Given the description of an element on the screen output the (x, y) to click on. 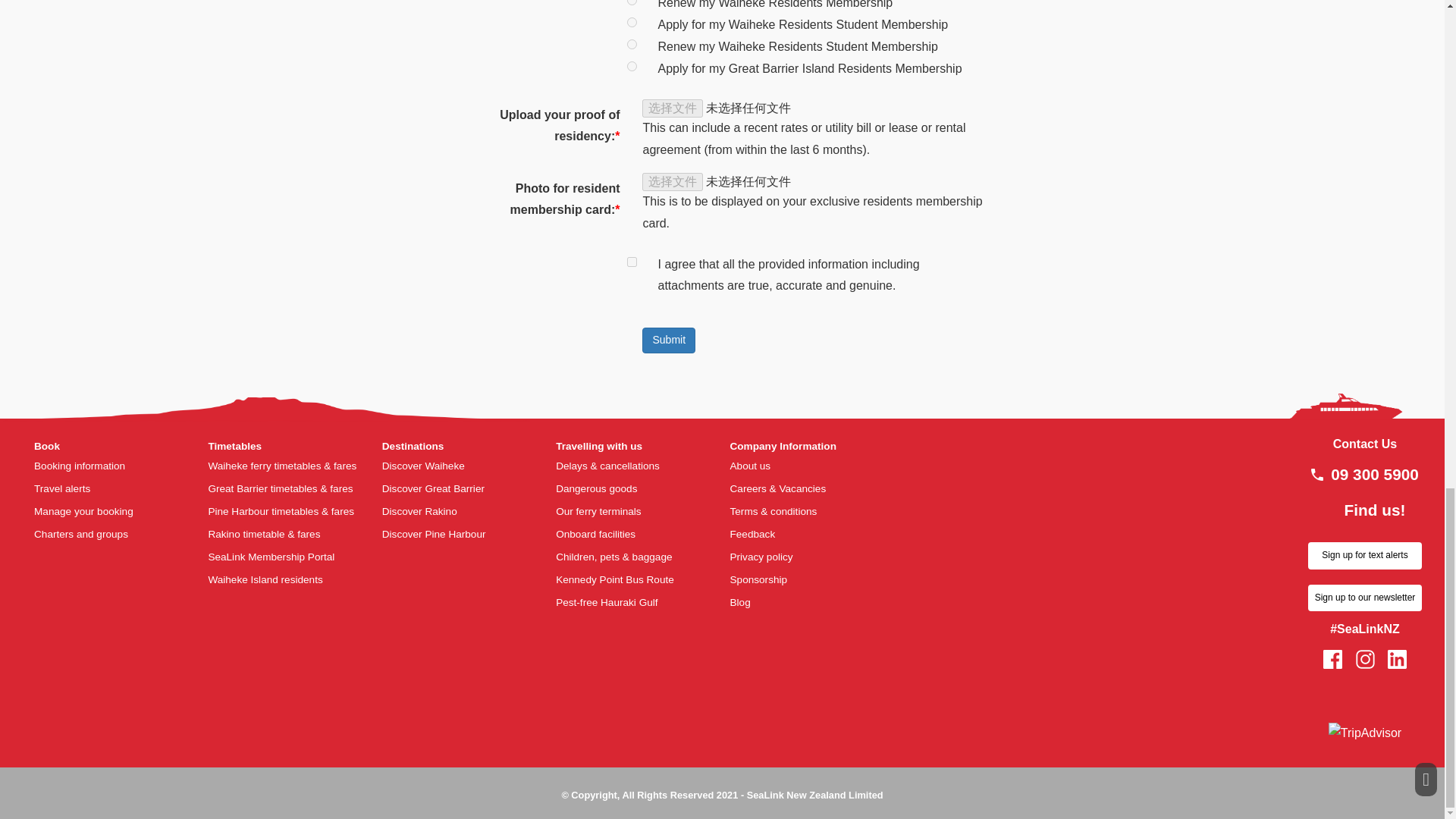
on (632, 261)
Renew my Waiheke Residents Student Membership (632, 44)
Submit (668, 339)
Apply for my Waiheke Residents Student Membership (632, 22)
Renew my Waiheke Residents Membership (632, 2)
Apply for my Great Barrier Island Residents Membership (632, 66)
